Given the description of an element on the screen output the (x, y) to click on. 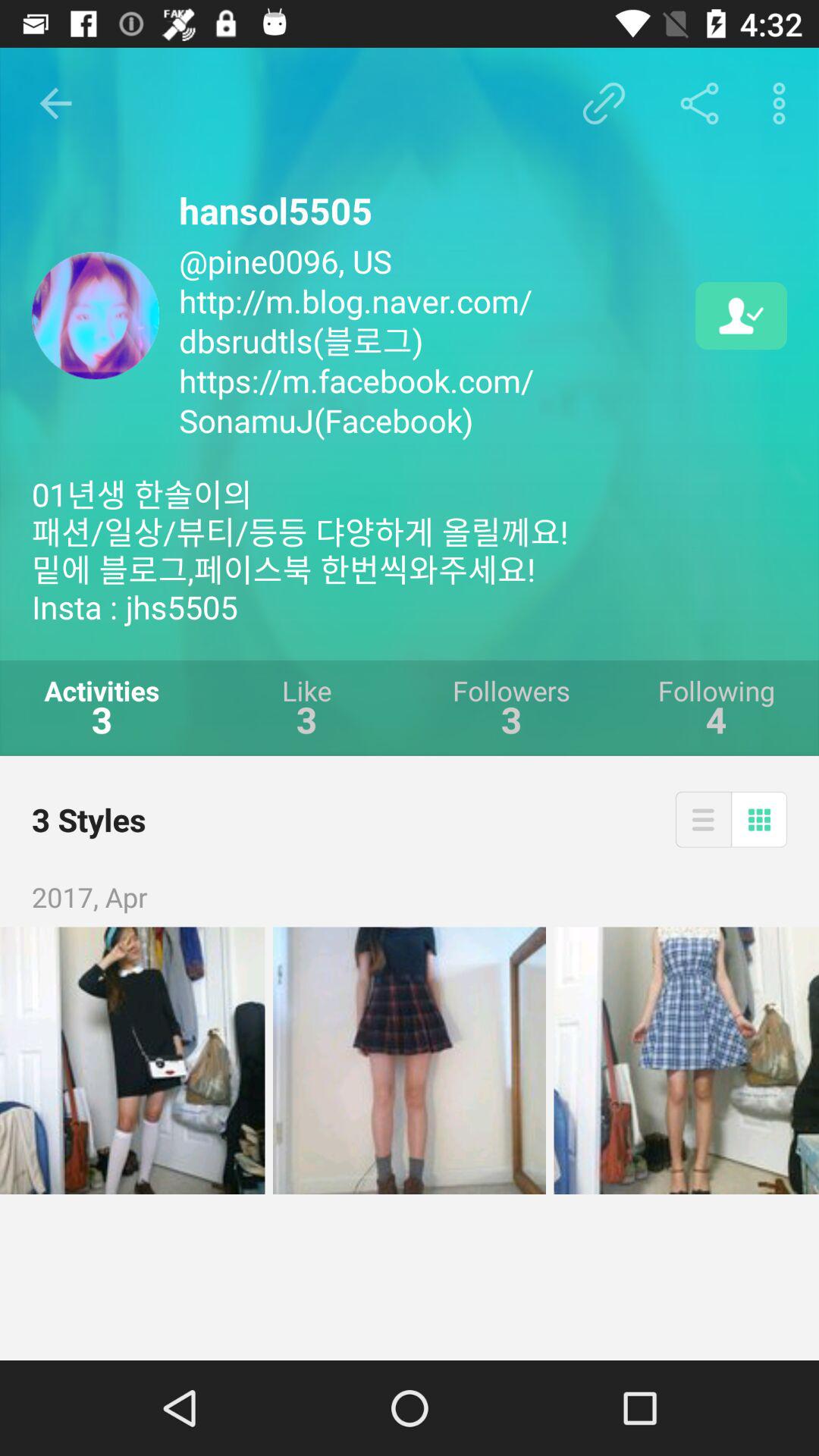
choose the item to the right of the 3 styles (702, 819)
